Given the description of an element on the screen output the (x, y) to click on. 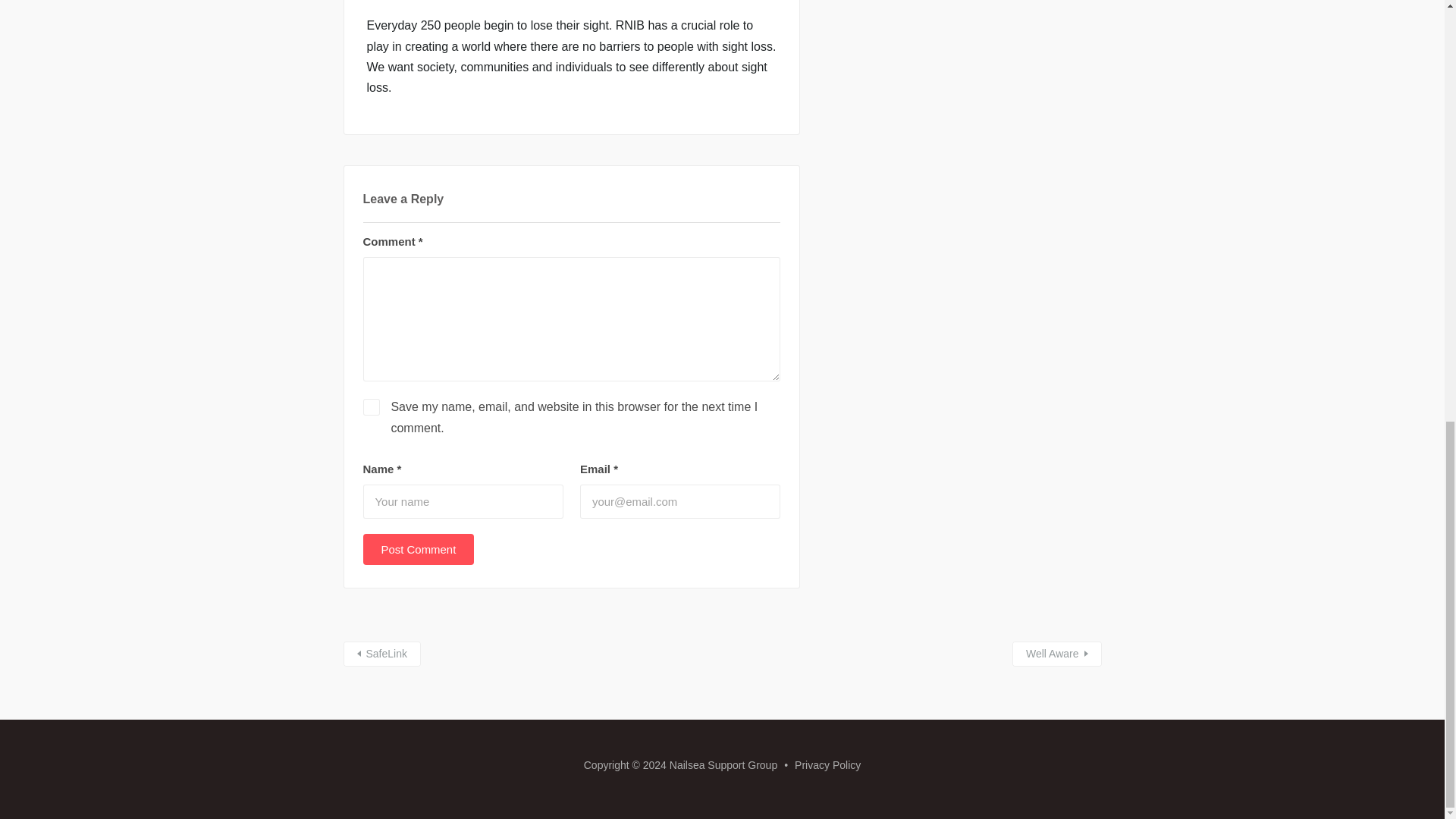
Post Comment (418, 549)
yes (370, 406)
